Given the description of an element on the screen output the (x, y) to click on. 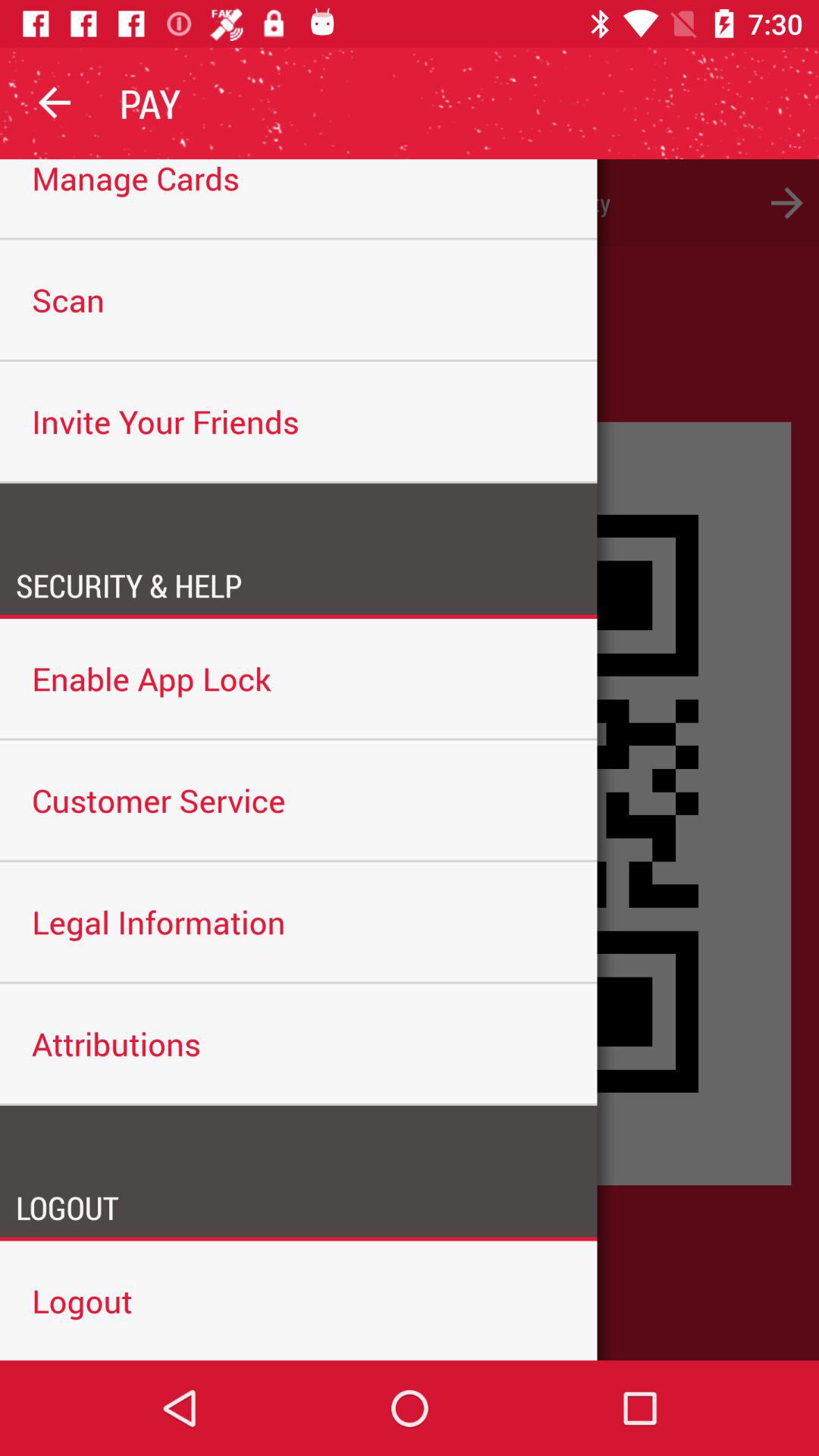
jump until the please add a icon (409, 202)
